Given the description of an element on the screen output the (x, y) to click on. 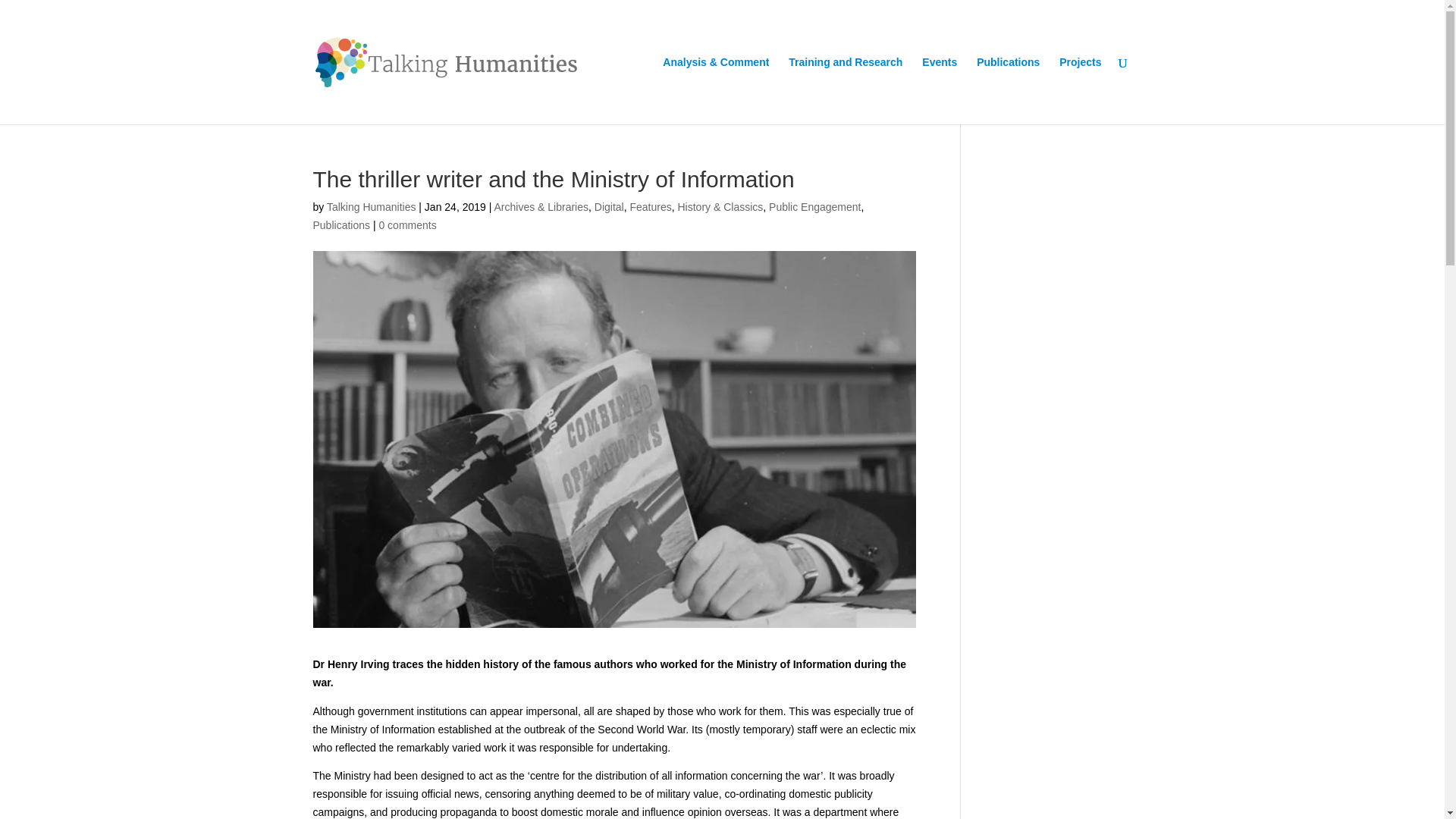
Digital (609, 206)
Features (649, 206)
Public Engagement (814, 206)
Publications (341, 224)
Posts by Talking Humanities (371, 206)
Publications (1007, 90)
Talking Humanities (371, 206)
0 comments (406, 224)
Training and Research (845, 90)
